Given the description of an element on the screen output the (x, y) to click on. 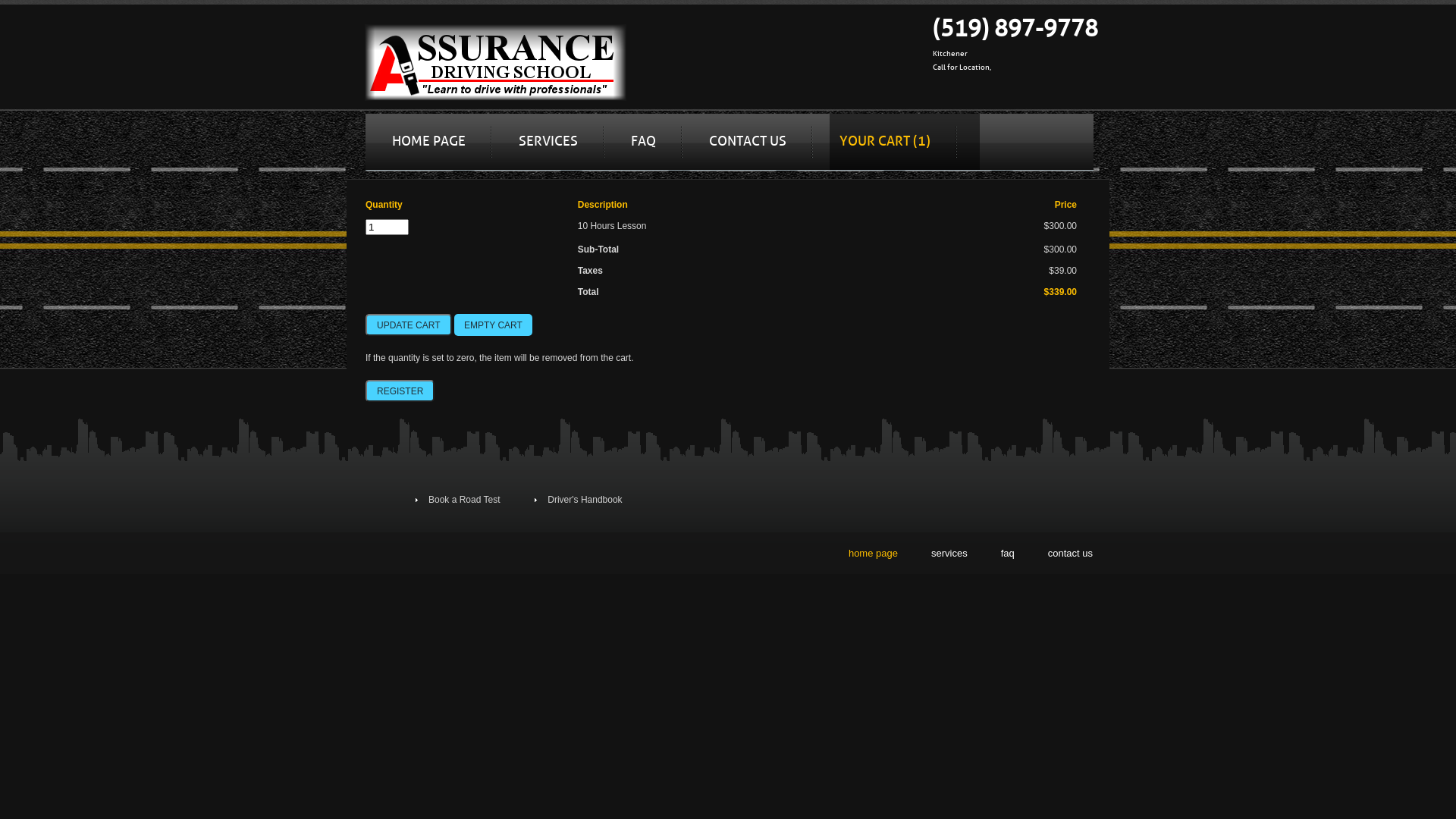
Assurance Driving School Element type: hover (495, 62)
Driver's Handbook Element type: text (584, 499)
HOME PAGE Element type: text (428, 141)
Register Element type: text (399, 390)
SERVICES Element type: text (548, 141)
YOUR CART (1) Element type: text (884, 141)
FAQ Element type: text (643, 141)
CONTACT US Element type: text (747, 141)
EMPTY CART Element type: text (493, 324)
faq Element type: text (1007, 552)
Book a Road Test Element type: text (464, 499)
home page Element type: text (872, 552)
contact us Element type: text (1070, 552)
Update Cart Element type: text (408, 324)
services Element type: text (949, 552)
